Given the description of an element on the screen output the (x, y) to click on. 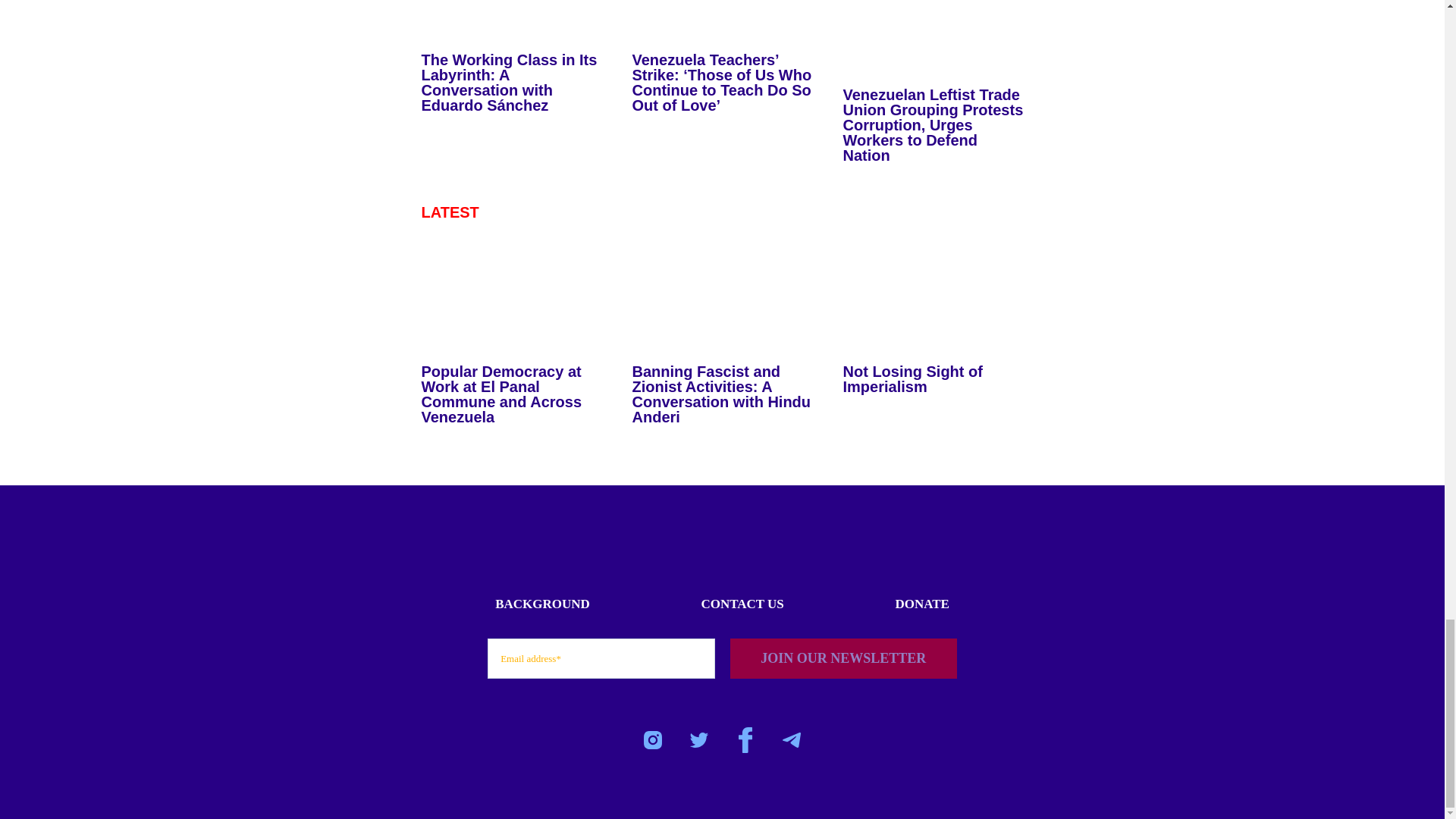
JOIN OUR NEWSLETTER (842, 658)
